Given the description of an element on the screen output the (x, y) to click on. 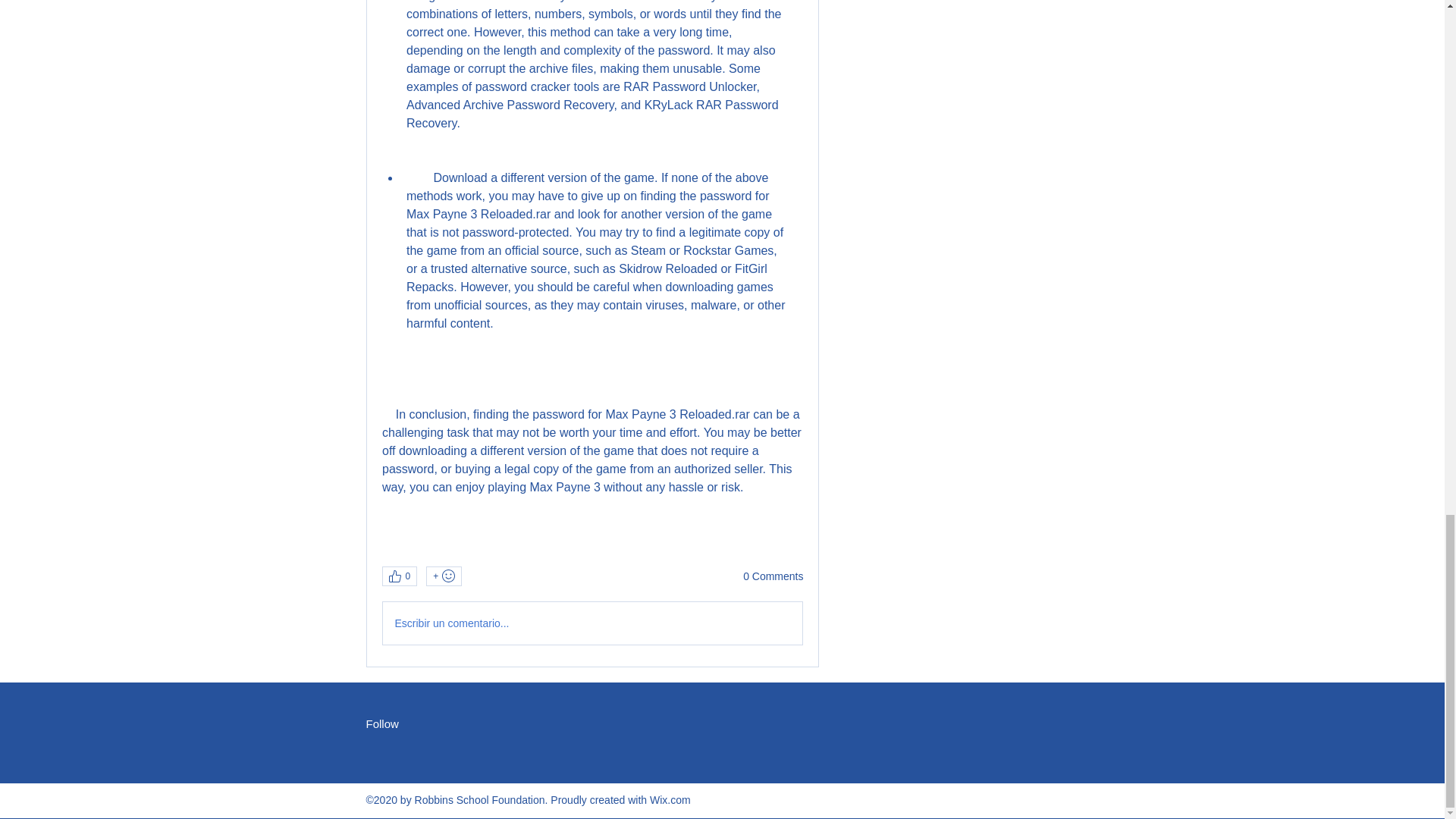
0 Comments (772, 576)
Escribir un comentario... (591, 622)
